Given the description of an element on the screen output the (x, y) to click on. 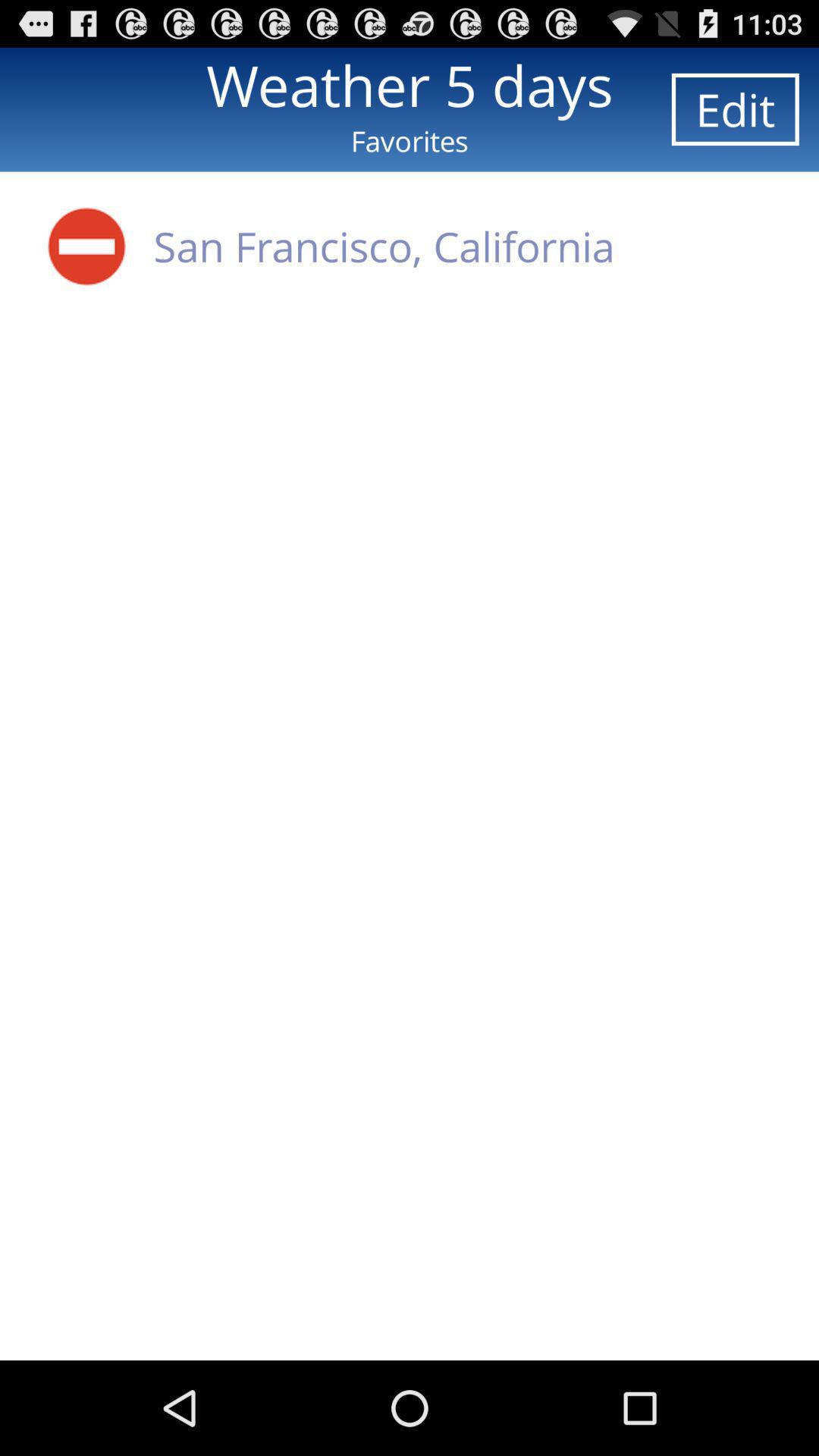
select app next to san francisco, california (86, 245)
